Given the description of an element on the screen output the (x, y) to click on. 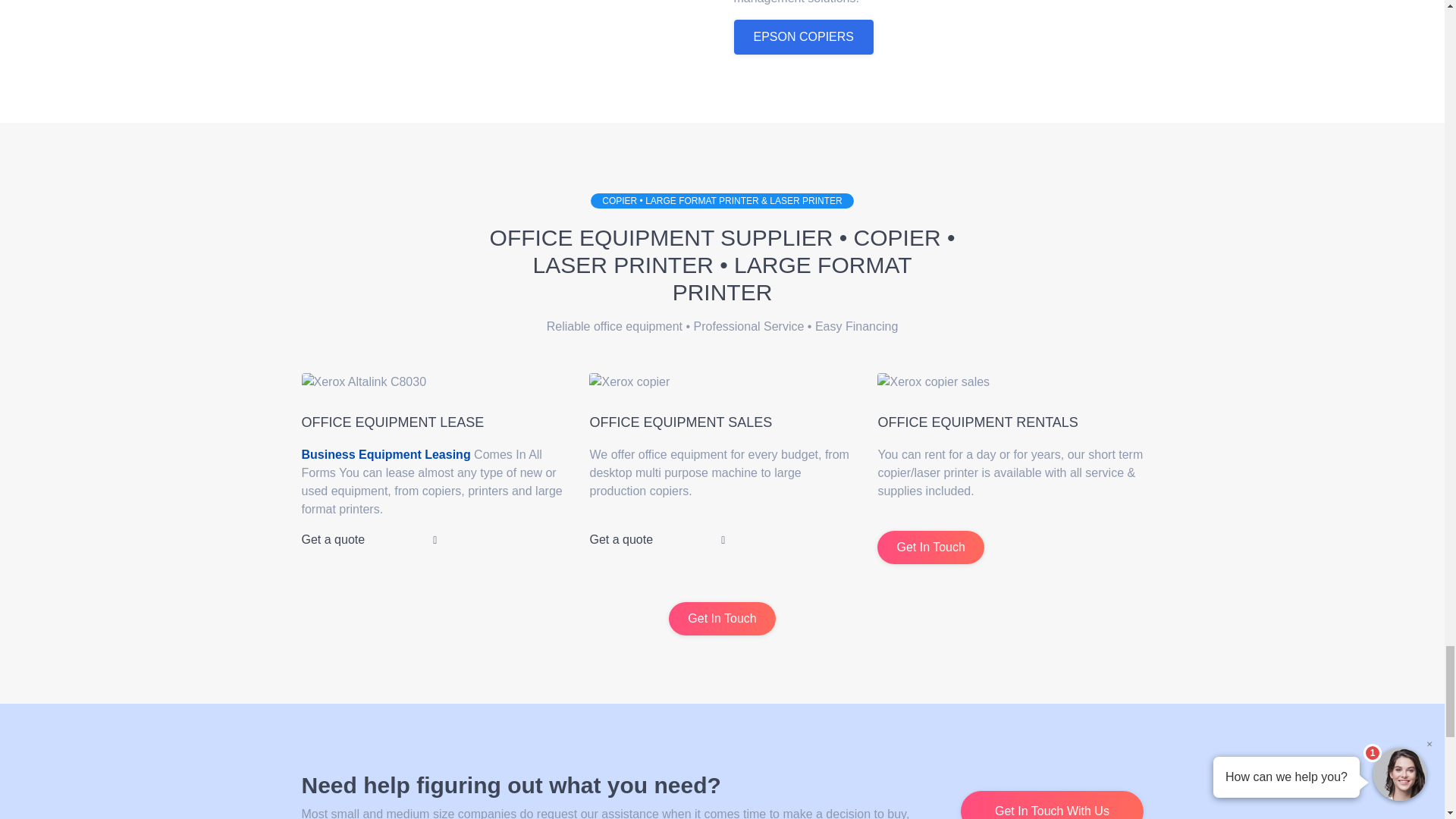
EPSON COPIERS (803, 36)
Get In Touch (930, 547)
Get In Touch With Us (1051, 805)
Get a quote                  (657, 539)
Get a quote                  (369, 539)
Get In Touch (721, 618)
